Given the description of an element on the screen output the (x, y) to click on. 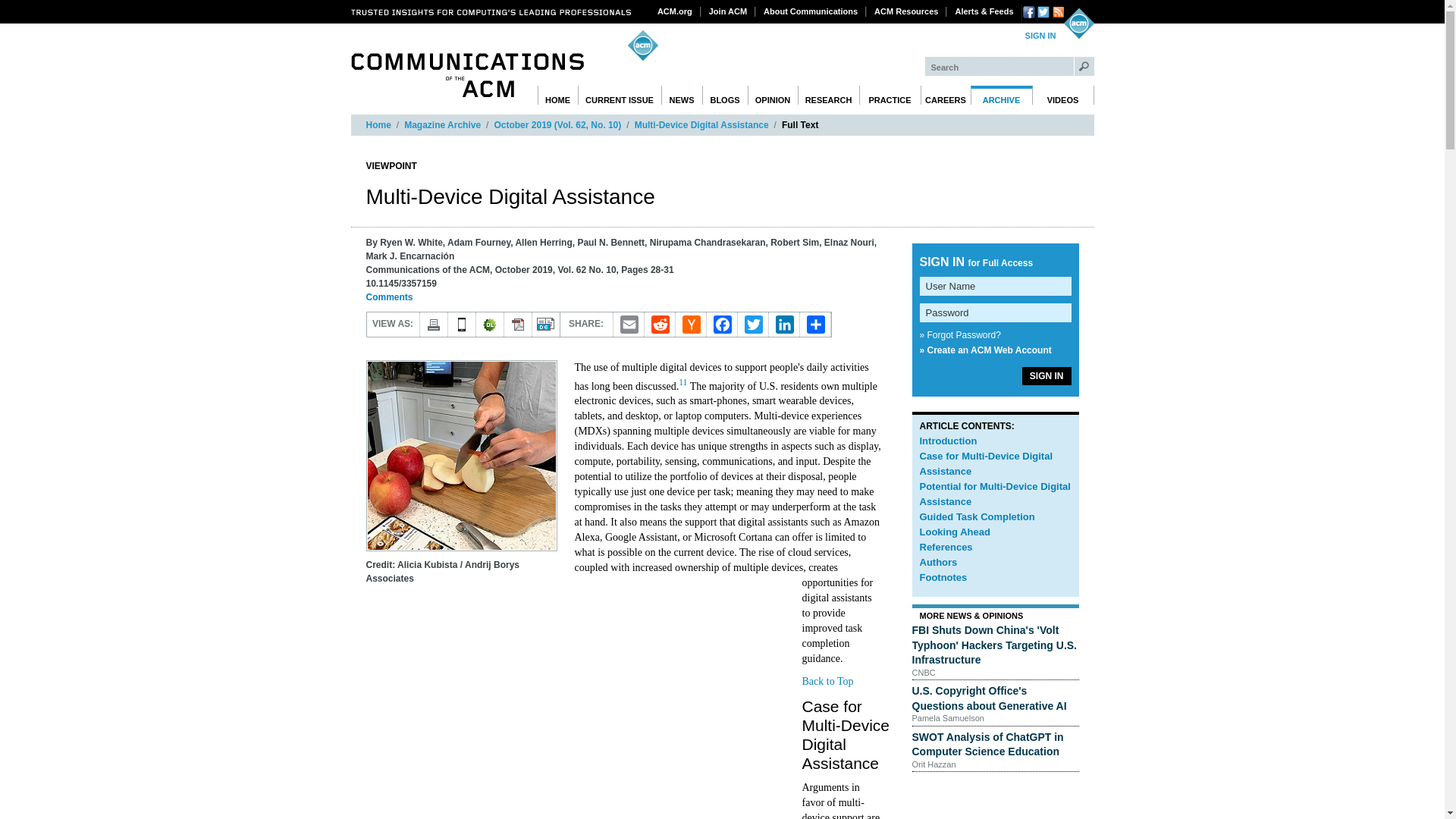
RESEARCH (828, 94)
Communications of the ACM (466, 75)
OPINION (772, 94)
CURRENT ISSUE (620, 94)
View in ACM Digital Library (489, 324)
Join ACM (727, 11)
SIGN IN (1041, 35)
About Communications (810, 11)
ACM Resources (906, 11)
View as PDF (517, 324)
NEWS (682, 94)
View in Digital Edition (546, 324)
Communications of the ACM (466, 75)
ACM Resources (906, 11)
Print (434, 324)
